Given the description of an element on the screen output the (x, y) to click on. 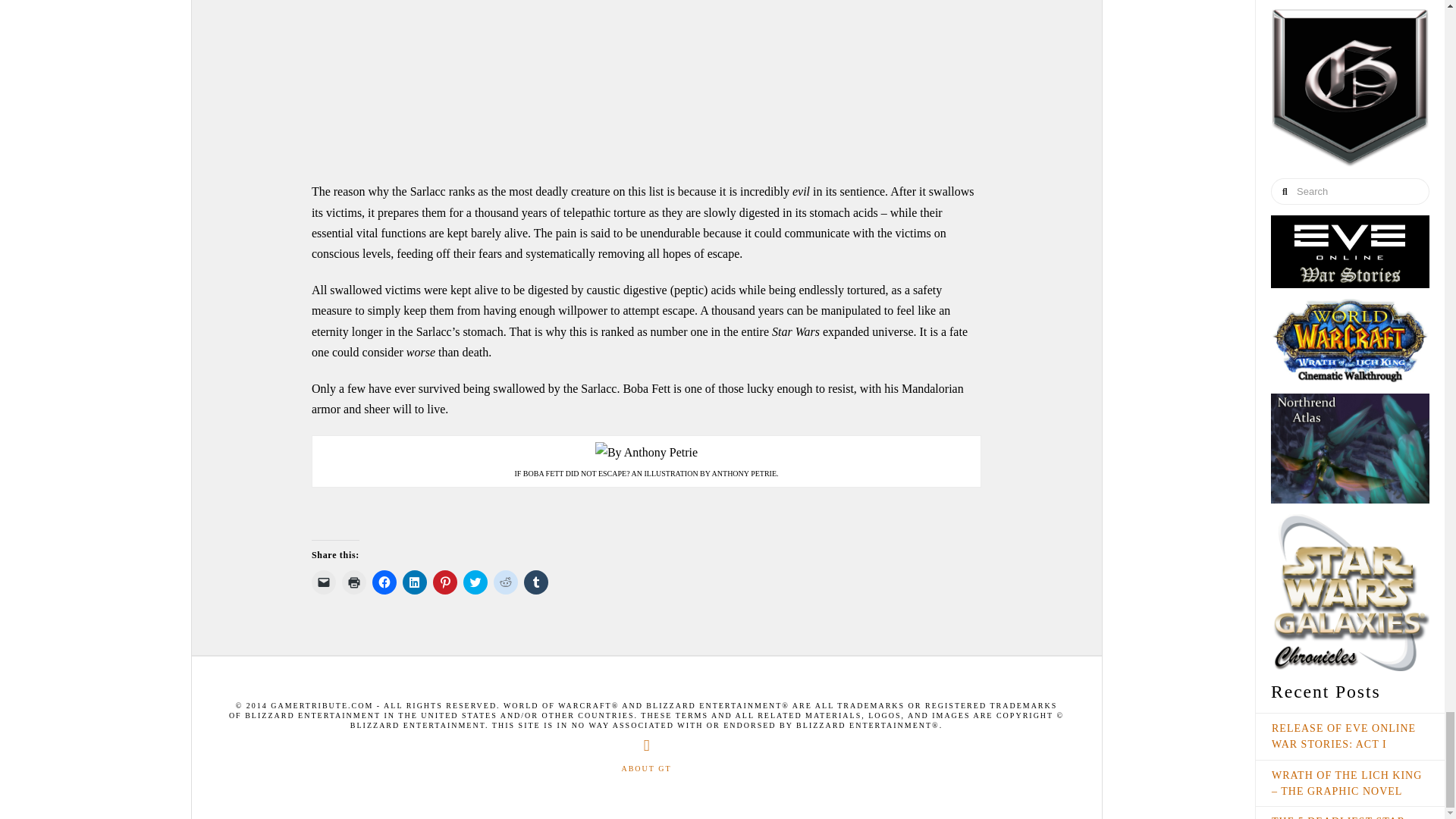
Click to share on Reddit (505, 582)
Click to print (354, 582)
Click to share on Facebook (384, 582)
Click to share on Twitter (475, 582)
Click to share on Pinterest (444, 582)
Click to email a link to a friend (323, 582)
Click to share on Tumblr (536, 582)
Click to share on LinkedIn (414, 582)
